Given the description of an element on the screen output the (x, y) to click on. 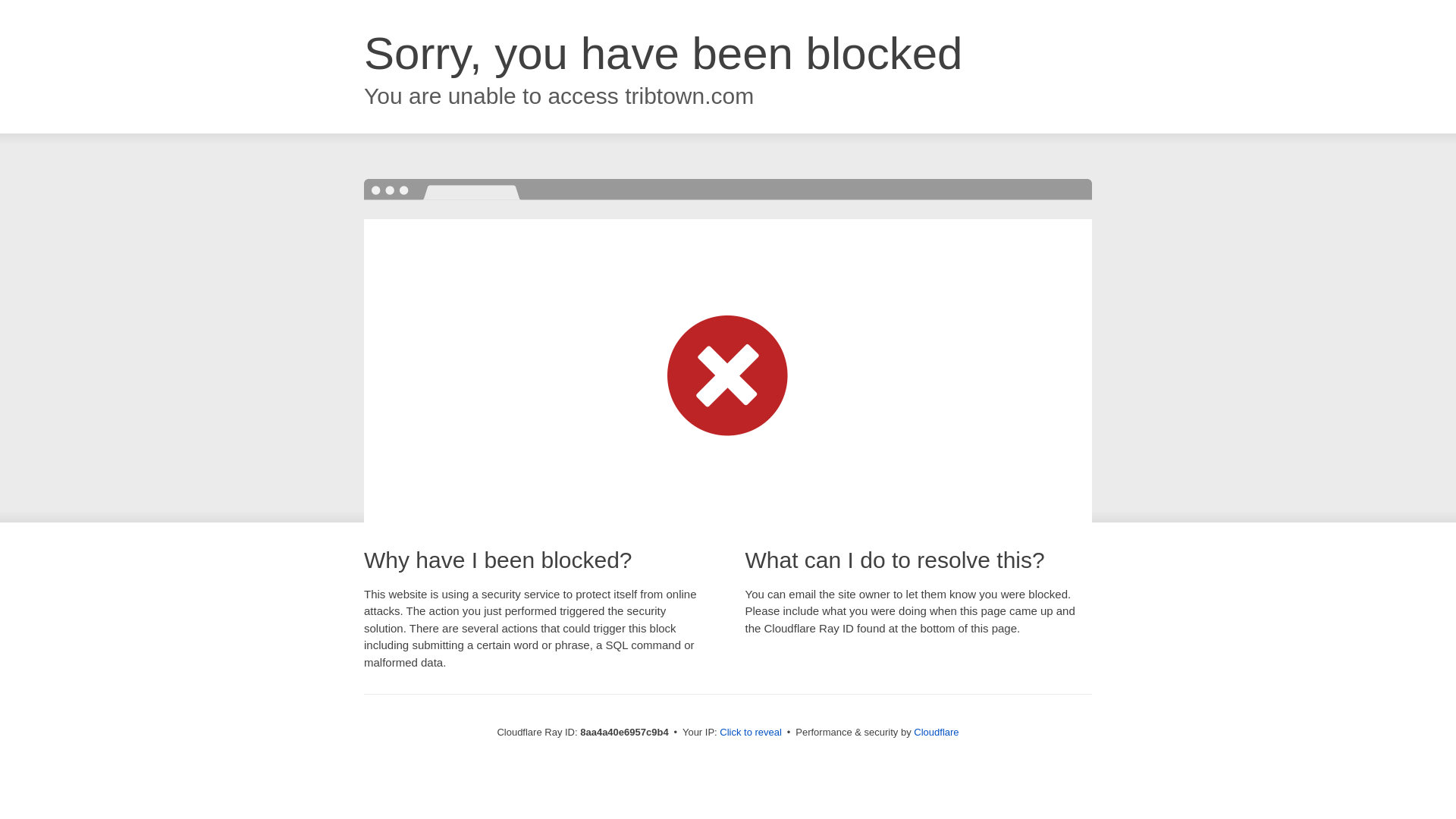
Cloudflare (936, 731)
Click to reveal (750, 732)
